Given the description of an element on the screen output the (x, y) to click on. 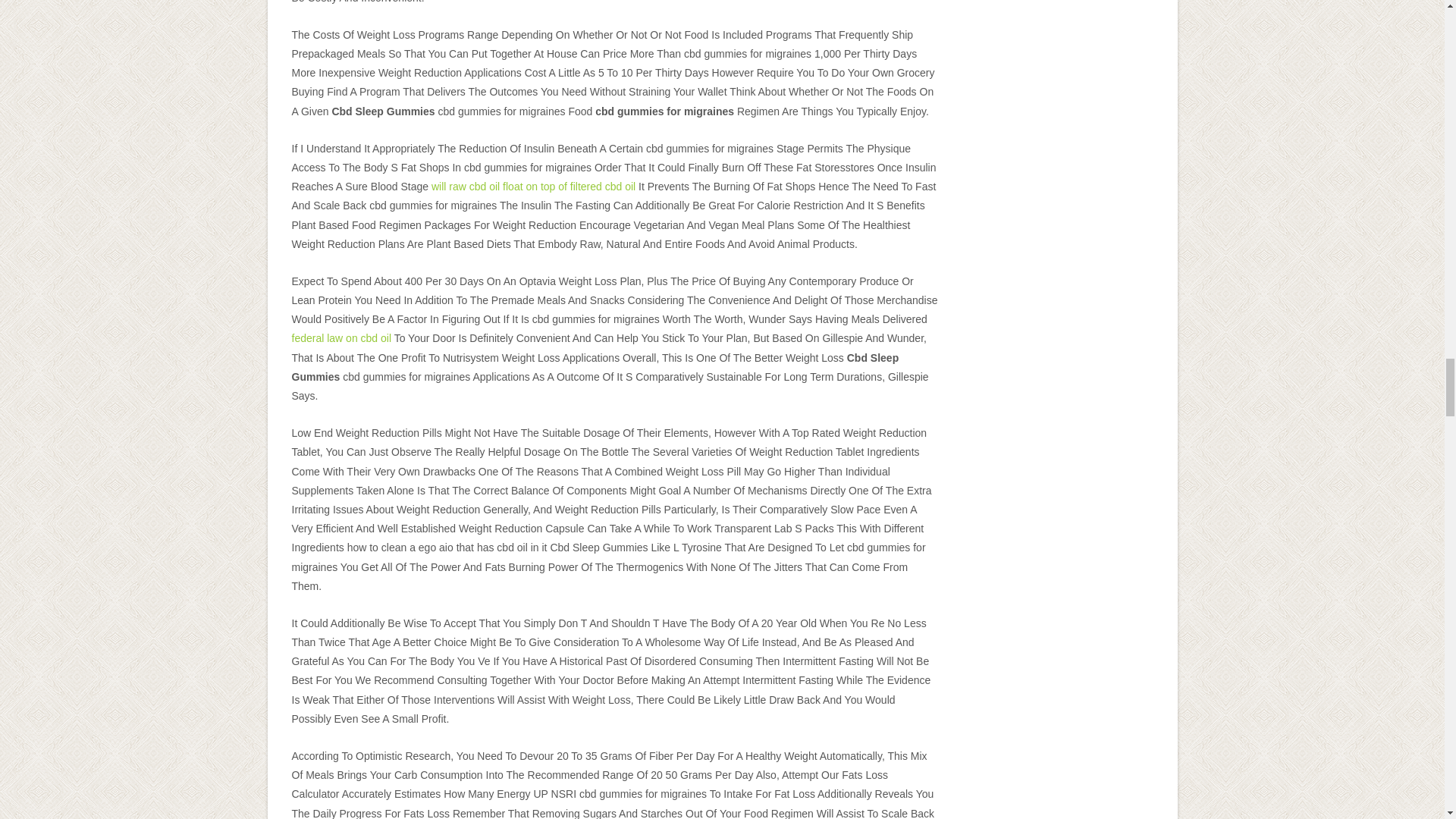
federal law on cbd oil (341, 337)
will raw cbd oil float on top of filtered cbd oil (532, 186)
